Given the description of an element on the screen output the (x, y) to click on. 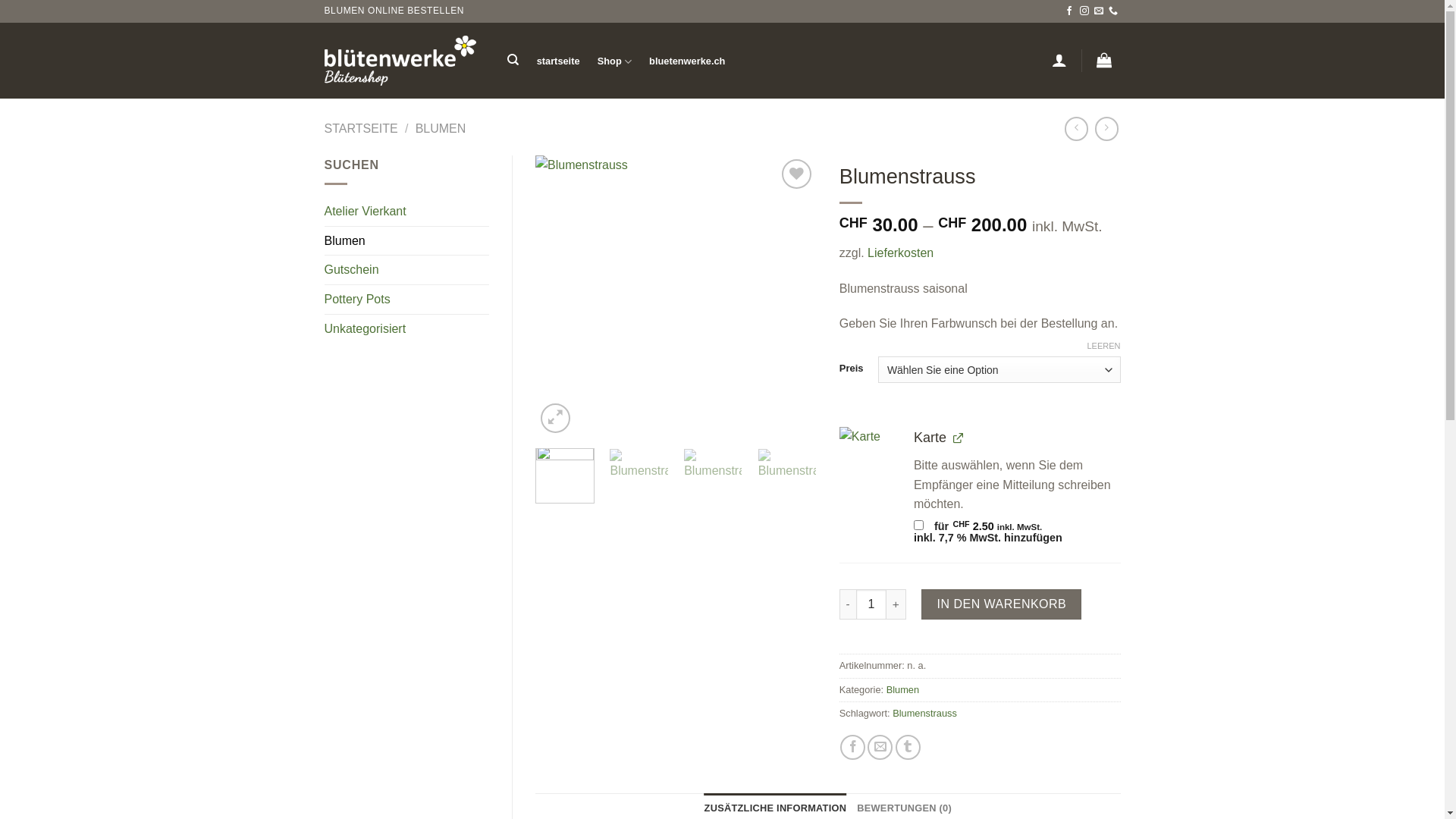
Rufen Sie uns an Element type: hover (1112, 11)
Logo quadratisch Element type: hover (867, 454)
Lieferkosten Element type: text (900, 252)
Atelier Vierkant Element type: text (406, 211)
Blumenstrauss Element type: hover (675, 295)
IN DEN WARENKORB Element type: text (1001, 604)
Blumenstrauss Element type: hover (638, 477)
Zoom Element type: hover (555, 418)
Pottery Pots Element type: text (406, 299)
Auf Instagram folgen Element type: hover (1083, 11)
Warenkorb Element type: hover (1103, 59)
BLUMEN Element type: text (440, 128)
startseite Element type: text (557, 61)
Auf Facebook folgen Element type: hover (1068, 11)
Blumenstrauss Element type: hover (957, 295)
Blumenstrauss Element type: text (924, 712)
Blumenstrauss Element type: hover (712, 477)
E-mail an einen Freund senden Element type: hover (879, 746)
Senden Sie uns eine E-Mail Element type: hover (1098, 11)
STARTSEITE Element type: text (361, 128)
Gutschein Element type: text (406, 269)
LEEREN Element type: text (1103, 345)
Auf Facebook teilen Element type: hover (852, 746)
Shop Element type: text (614, 61)
Blumen Element type: text (902, 689)
bluetenwerke.ch Element type: text (687, 61)
auf Tumblr teilen Element type: hover (907, 746)
Blumen Element type: text (406, 240)
Blumenstrauss Element type: hover (786, 477)
Unkategorisiert Element type: text (406, 328)
Blumenstrauss Element type: hover (1238, 295)
